Given the description of an element on the screen output the (x, y) to click on. 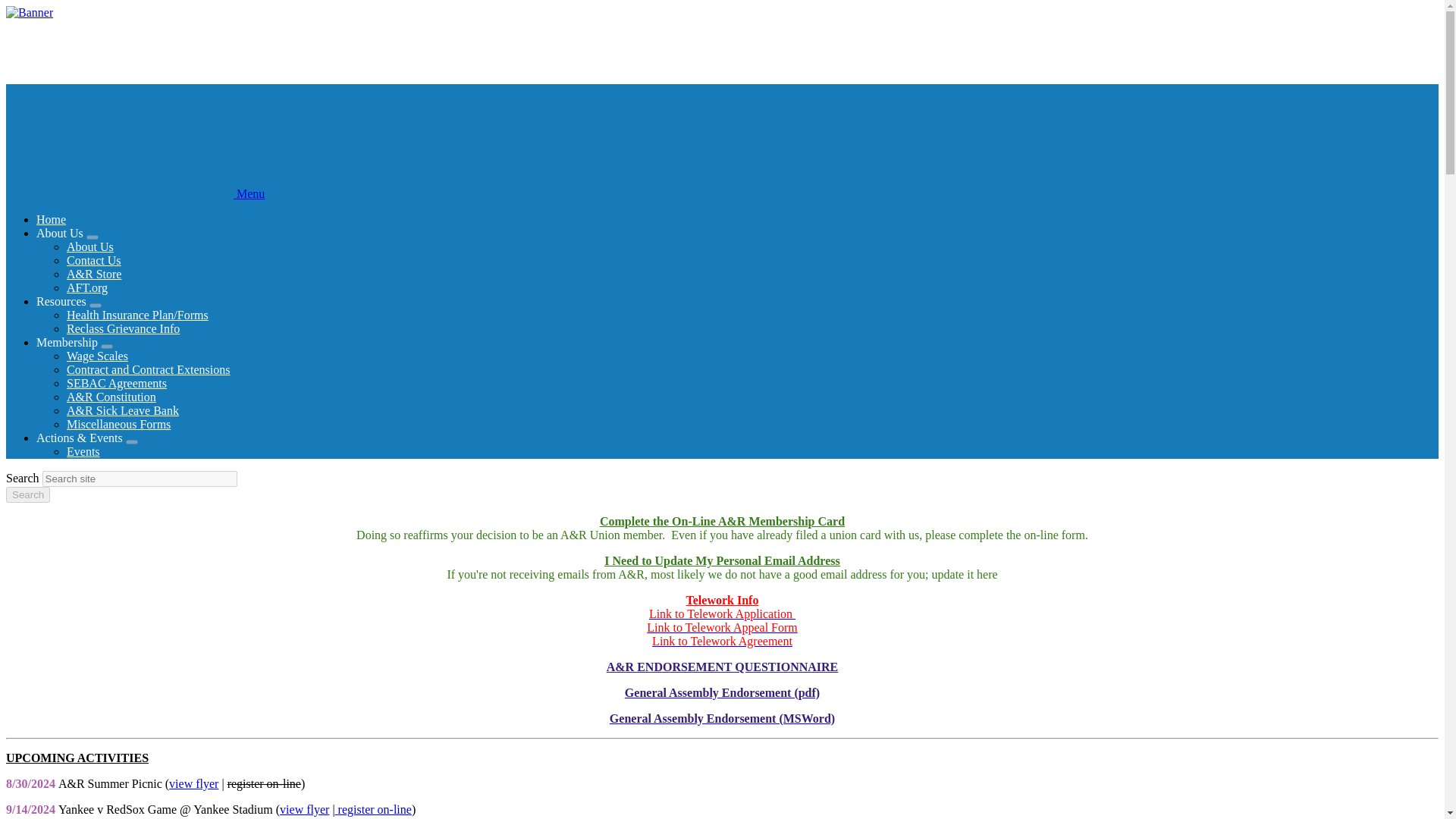
Contact Us (93, 259)
Events (83, 451)
Link to Telework Agreement (722, 640)
SEBAC's 2009 and 2011 agreements (116, 382)
About Us (89, 246)
Link to Telework Application  (721, 613)
Contract and Contract Extensions (148, 369)
SEBAC Agreements (116, 382)
Search (27, 494)
AFT.org (86, 287)
